Given the description of an element on the screen output the (x, y) to click on. 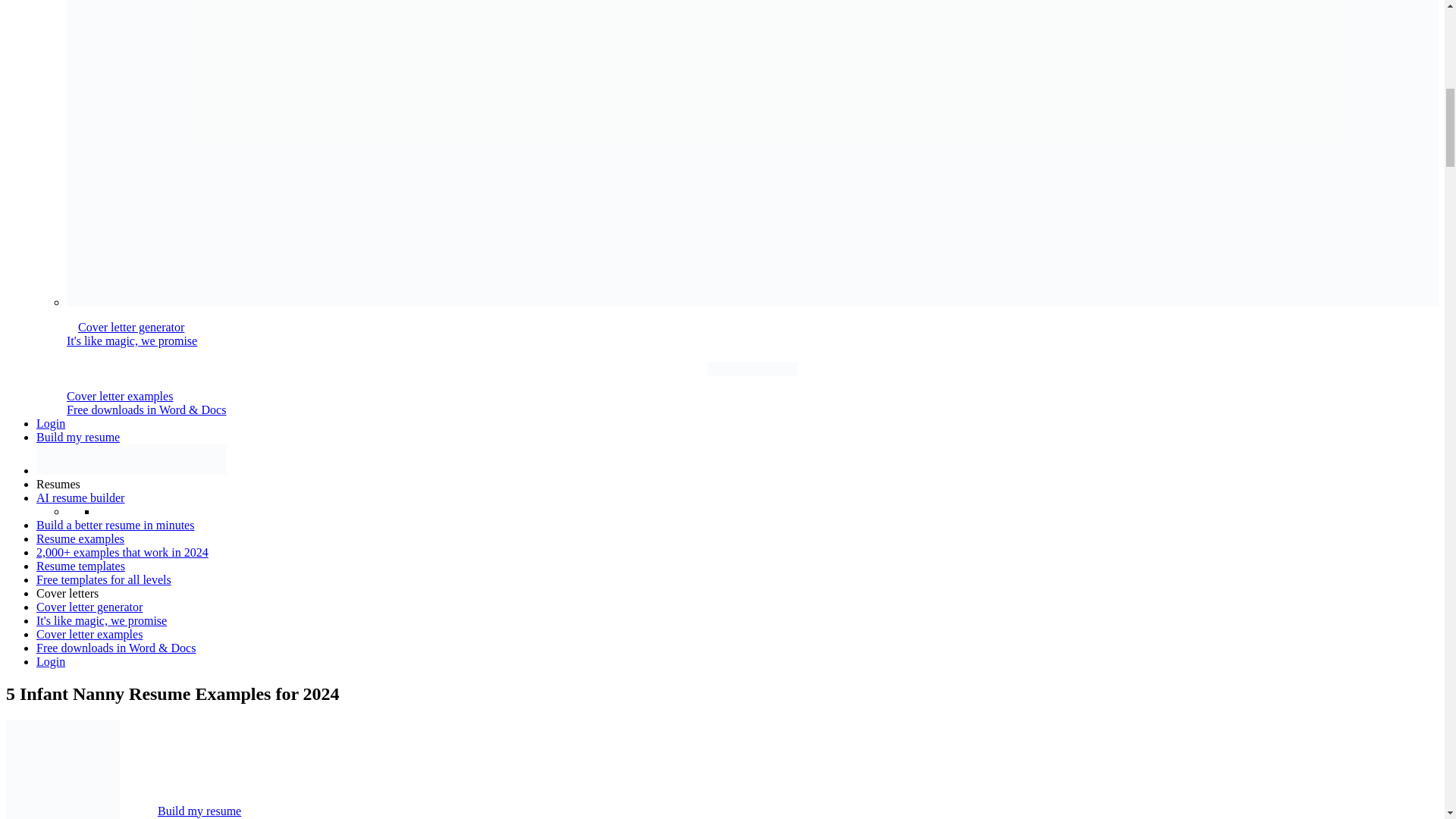
Free templates for all levels (103, 579)
Resumes (58, 483)
Cover letter examples (89, 634)
Build a better resume in minutes (114, 524)
Build my resume (77, 436)
AI resume builder (79, 497)
Login (50, 422)
It's like magic, we promise (101, 620)
Resume templates (80, 565)
Resume examples (79, 538)
Cover letter generator (89, 606)
Login (50, 661)
Cover letters (67, 593)
Build my resume (199, 810)
